Given the description of an element on the screen output the (x, y) to click on. 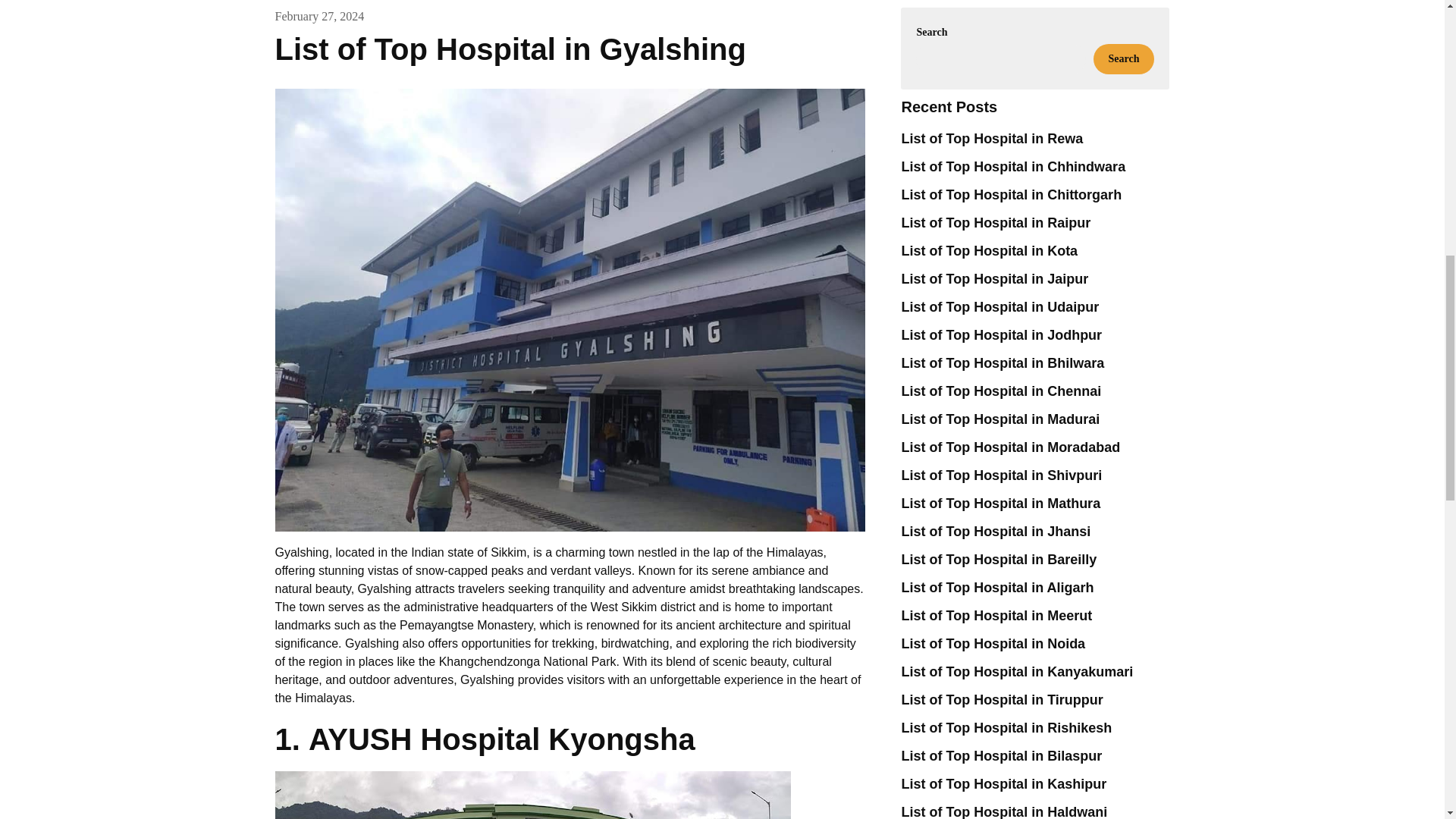
Search (1123, 59)
February 27, 2024 (319, 15)
List of Top Hospital in Rewa (992, 137)
